Given the description of an element on the screen output the (x, y) to click on. 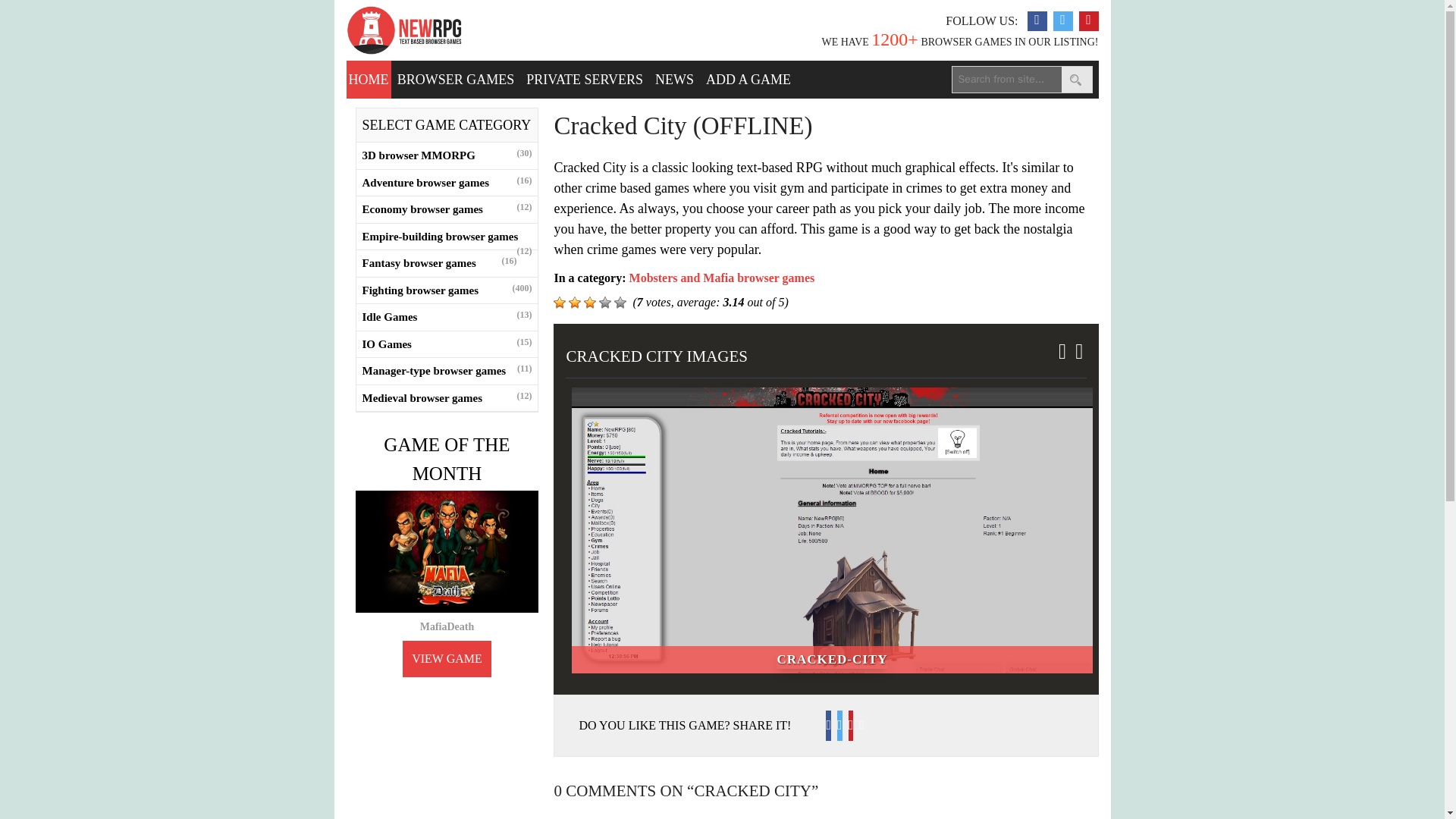
7 votes, average: 3.14 out of 5 (559, 301)
Online browser games (403, 29)
7 votes, average: 3.14 out of 5 (589, 301)
7 votes, average: 3.14 out of 5 (604, 301)
ADD A GAME (748, 79)
7 votes, average: 3.14 out of 5 (574, 301)
HOME (368, 79)
BROWSER GAMES (456, 79)
NEWS (674, 79)
7 votes, average: 3.14 out of 5 (620, 301)
PRIVATE SERVERS (584, 79)
